Given the description of an element on the screen output the (x, y) to click on. 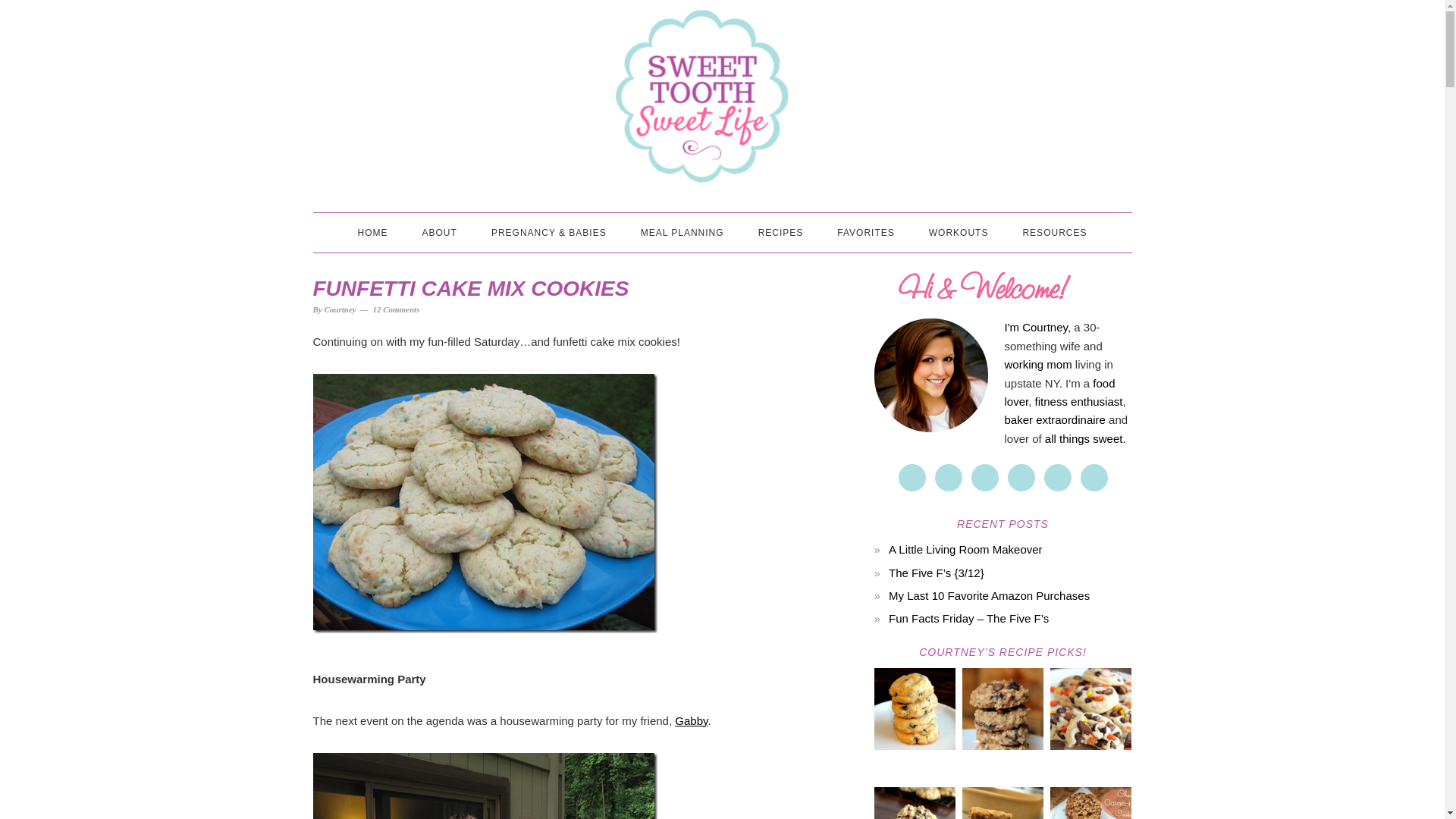
RECIPES (781, 232)
funfetti cake mix cookies (484, 503)
HOME (372, 232)
MEAL PLANNING (682, 232)
ABOUT (440, 232)
